Given the description of an element on the screen output the (x, y) to click on. 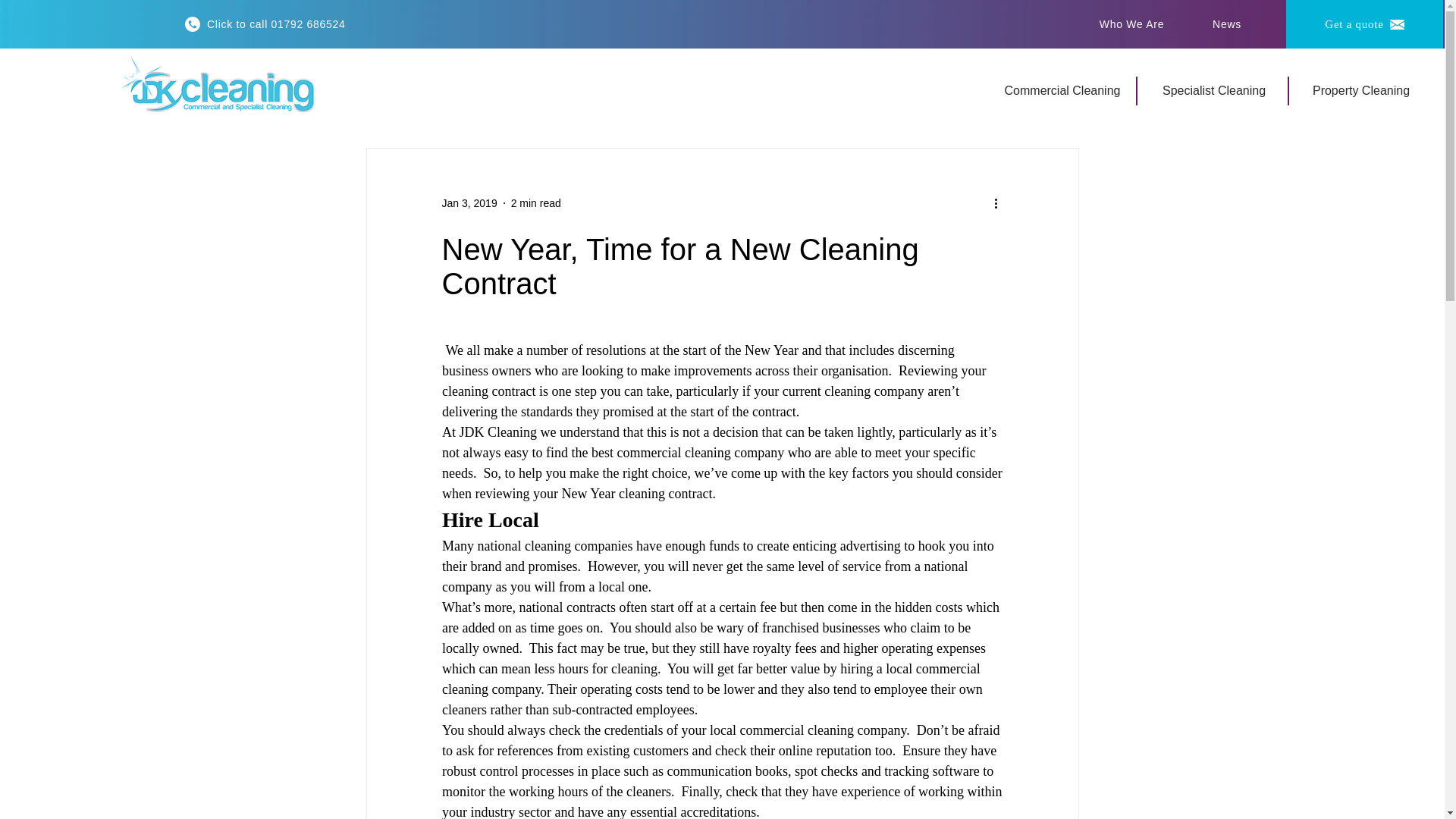
Specialist Cleaning (1214, 91)
Click to call 01792 686524 (264, 24)
2 min read (535, 203)
Jan 3, 2019 (468, 203)
Property Cleaning (1362, 91)
Who We Are (1132, 24)
News (1228, 24)
Commercial Cleaning (1063, 91)
Get a quote (1363, 24)
